Given the description of an element on the screen output the (x, y) to click on. 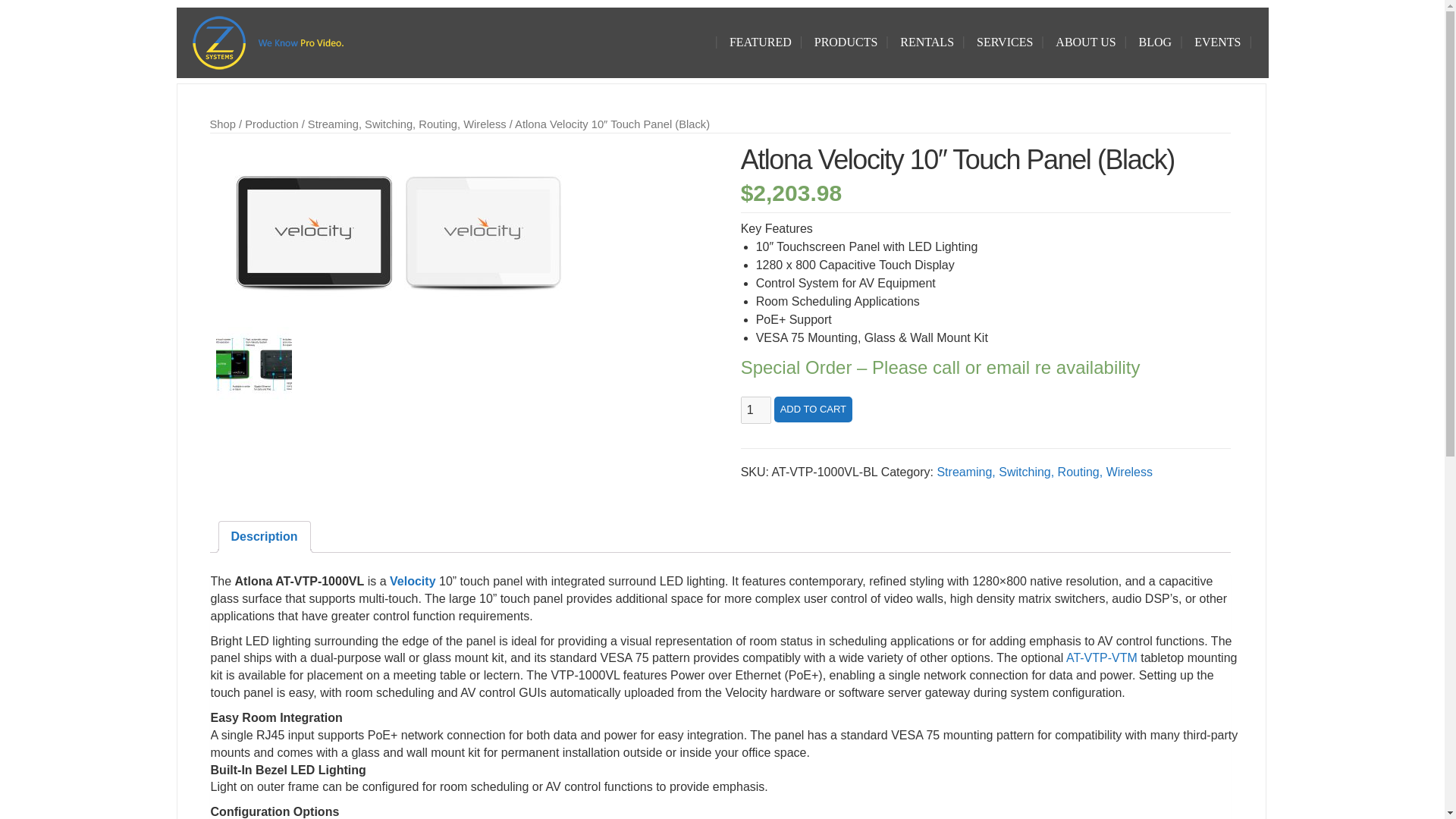
deets (253, 364)
Right one (399, 232)
PRODUCTS (846, 42)
1 (756, 409)
FEATURED (760, 42)
